Given the description of an element on the screen output the (x, y) to click on. 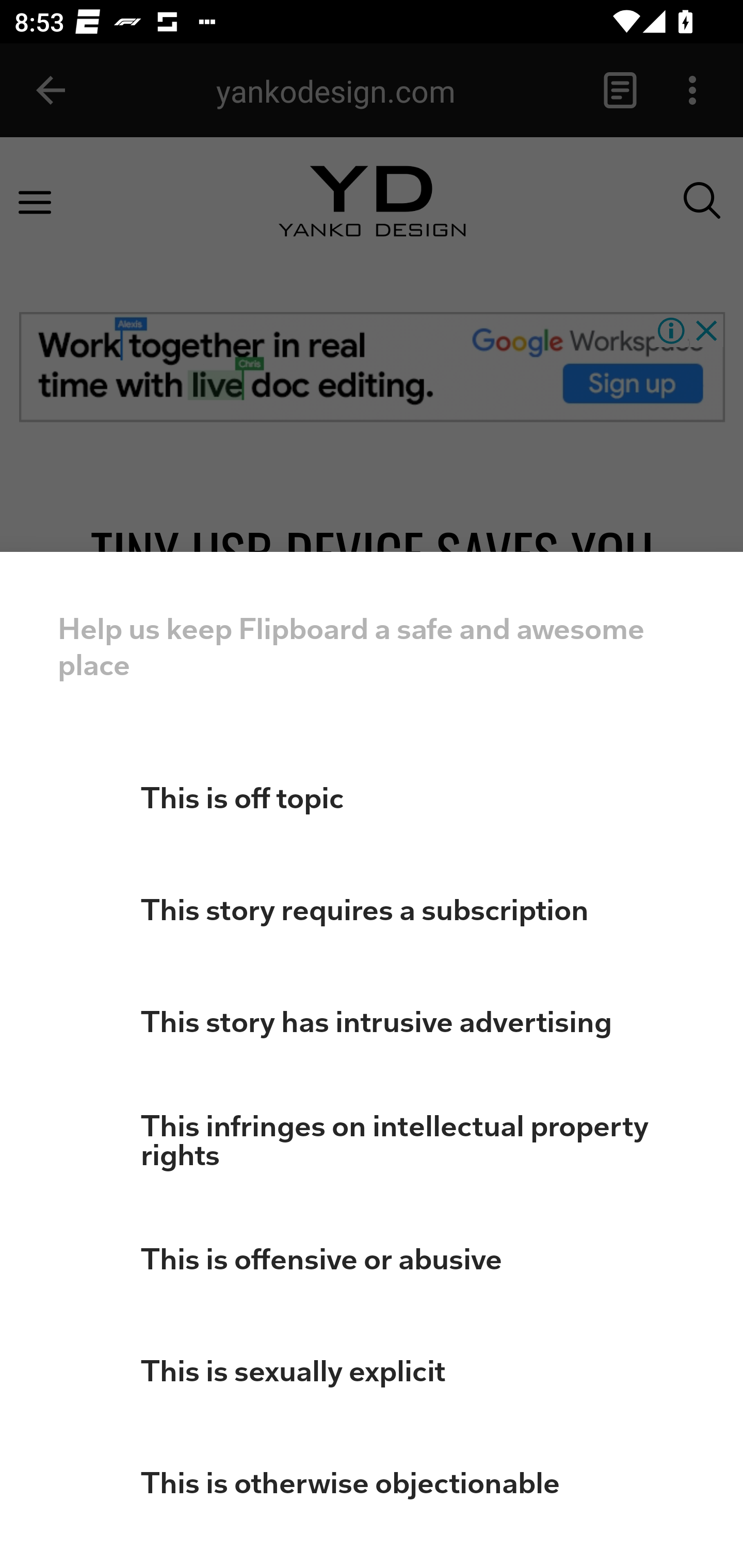
This is off topic (371, 797)
This story requires a subscription (371, 909)
This story has intrusive advertising (371, 1021)
This infringes on intellectual property rights (371, 1140)
This is offensive or abusive (371, 1258)
This is sexually explicit (371, 1370)
This is otherwise objectionable (371, 1482)
